Given the description of an element on the screen output the (x, y) to click on. 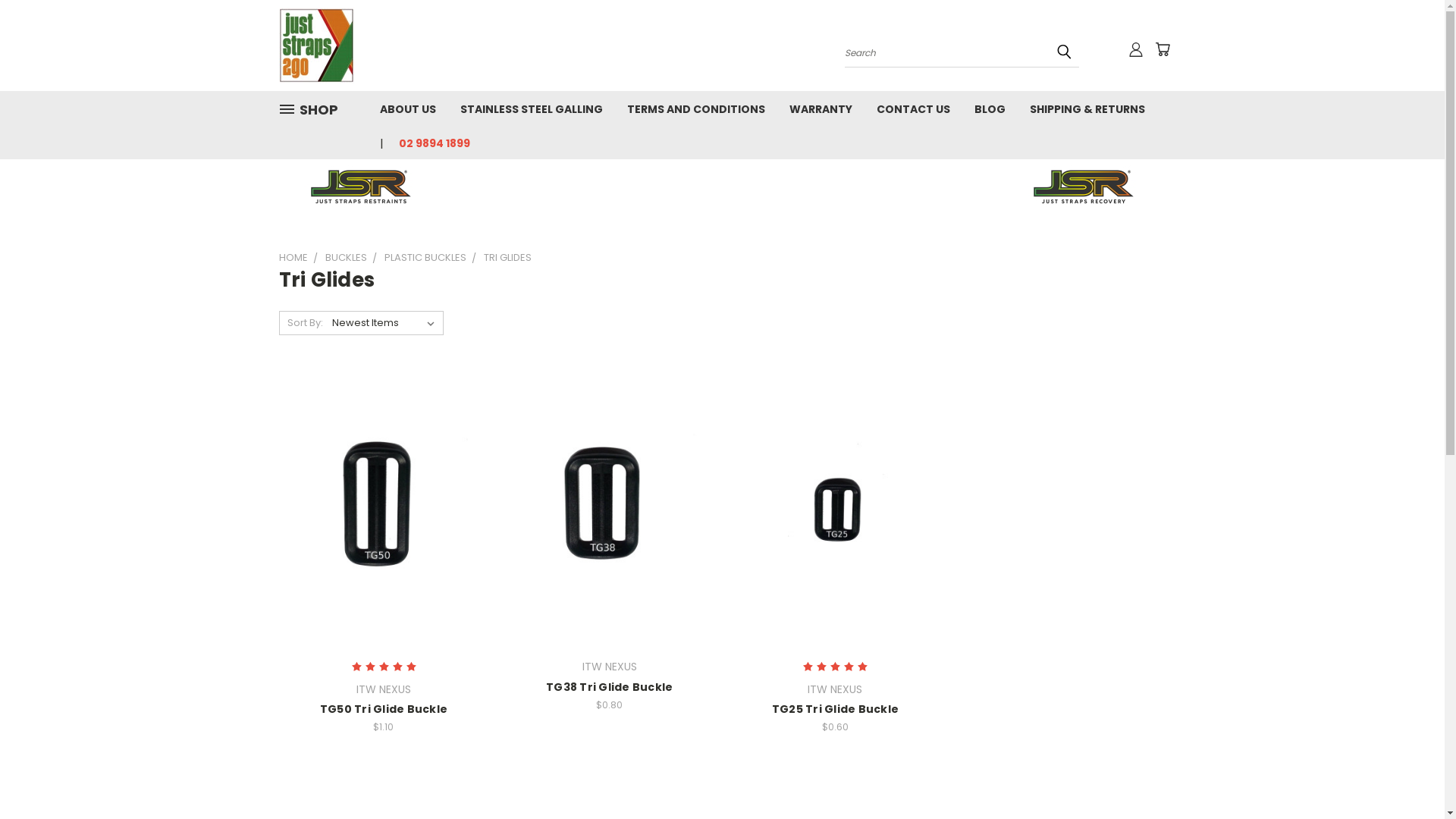
TG38 Tri Glide Buckle Element type: text (609, 686)
ABOUT US Element type: text (407, 108)
TG25 Tri Glide Buckle Element type: hover (835, 510)
CONTACT US Element type: text (913, 108)
PLASTIC BUCKLES Element type: text (424, 257)
TG50 Tri Glide Buckle Element type: text (383, 708)
JustStraps2go Element type: hover (316, 45)
submit Element type: hover (1063, 51)
TG38 Tri Glide Buckle Element type: hover (609, 510)
TERMS AND CONDITIONS Element type: text (695, 108)
STAINLESS STEEL GALLING Element type: text (530, 108)
TG25 Tri Glide Buckle Element type: text (834, 708)
02 9894 1899 Element type: text (428, 142)
BUCKLES Element type: text (345, 257)
SHIPPING & RETURNS Element type: text (1087, 108)
SHOP Element type: text (314, 109)
TG50 Tri Glide Buckle Element type: hover (384, 510)
HOME Element type: text (293, 257)
WARRANTY Element type: text (819, 108)
BLOG Element type: text (988, 108)
